Given the description of an element on the screen output the (x, y) to click on. 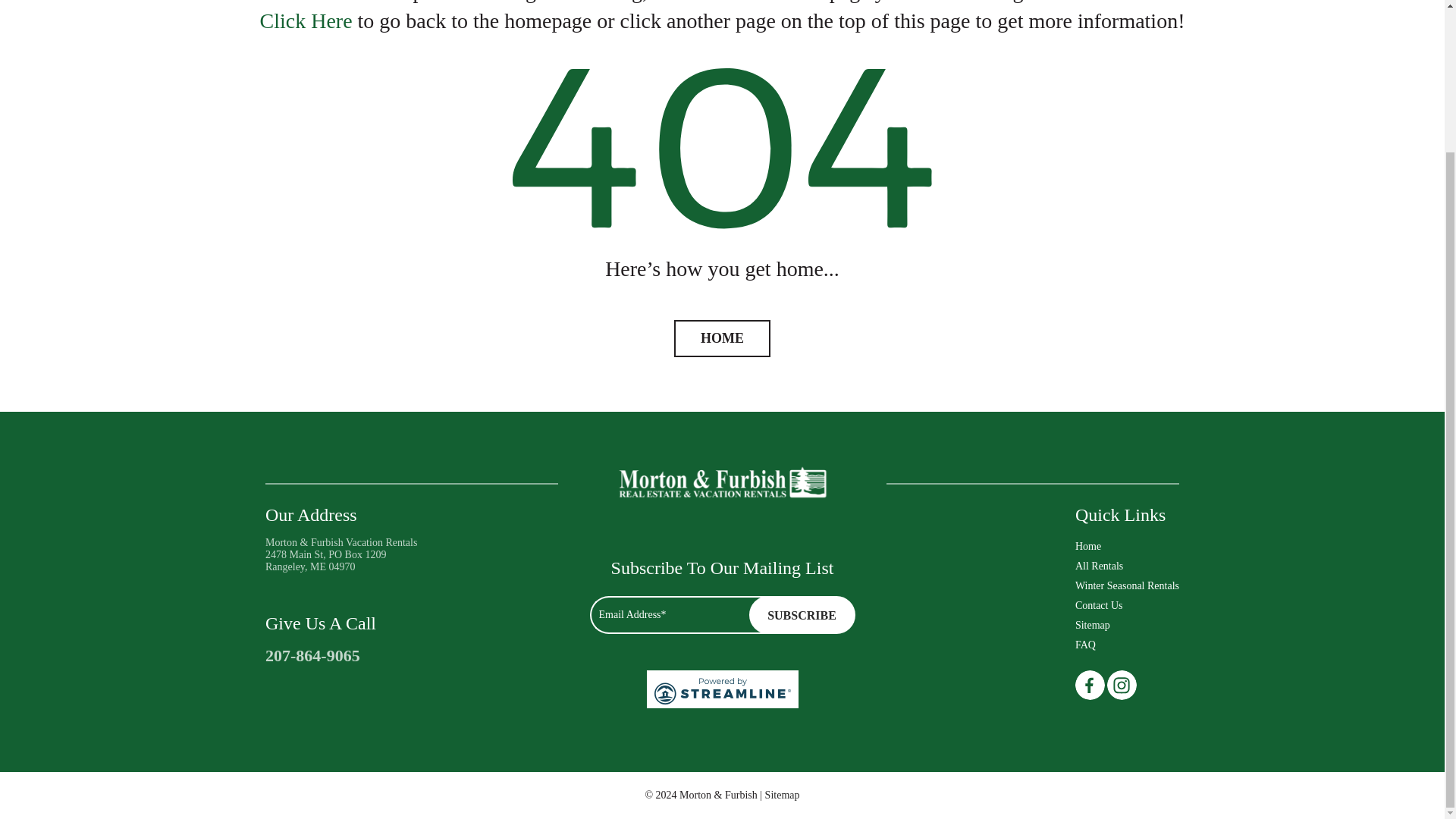
Subscribe (802, 614)
